Given the description of an element on the screen output the (x, y) to click on. 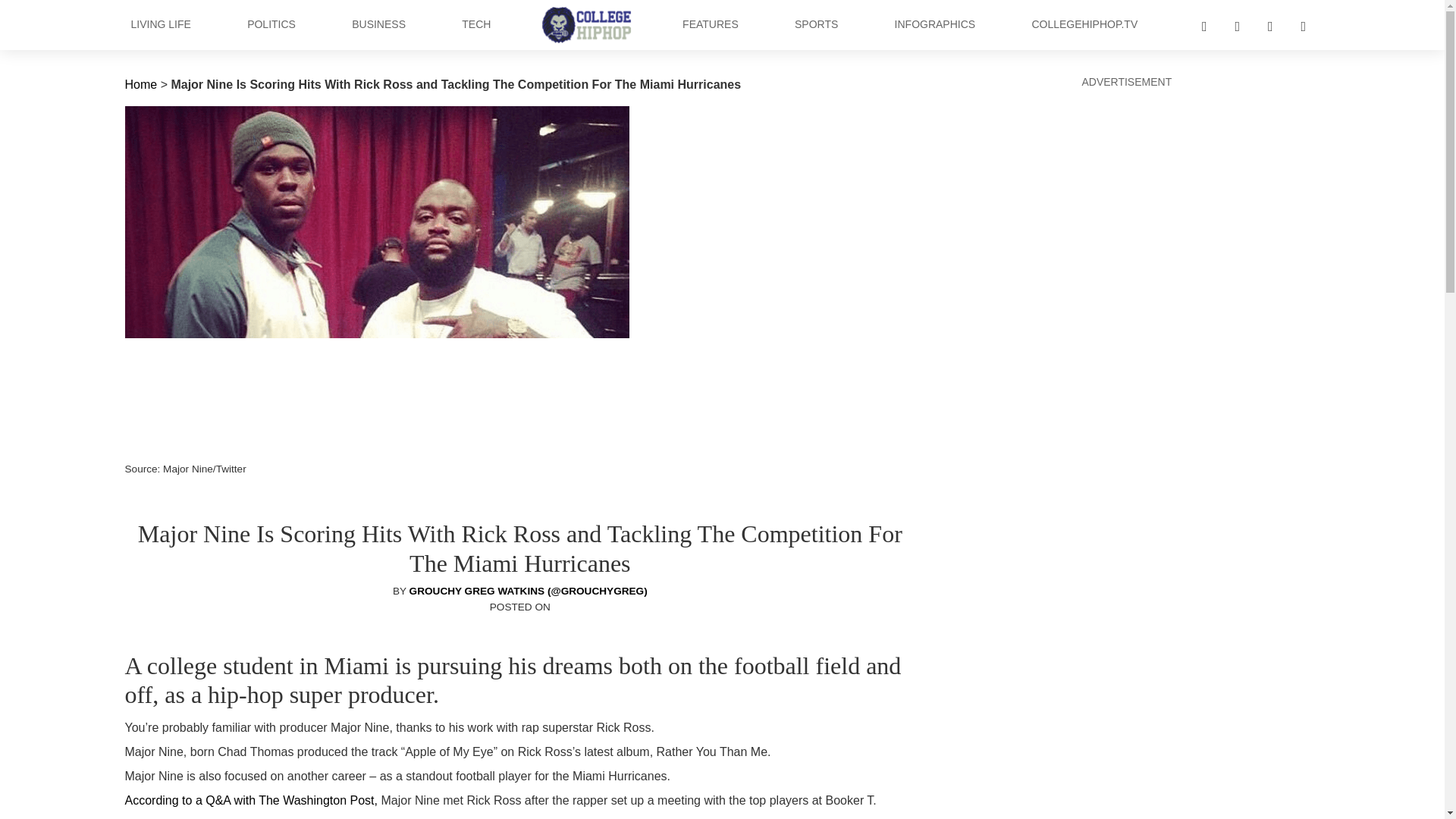
BUSINESS (379, 24)
Infographics (934, 24)
COLLEGEHIPHOP.TV (1083, 24)
Features (710, 24)
LIVING LIFE (159, 24)
CollegeHipHop.TV (1083, 24)
FEATURES (710, 24)
Business (379, 24)
Home (140, 83)
Living Life (159, 24)
